Given the description of an element on the screen output the (x, y) to click on. 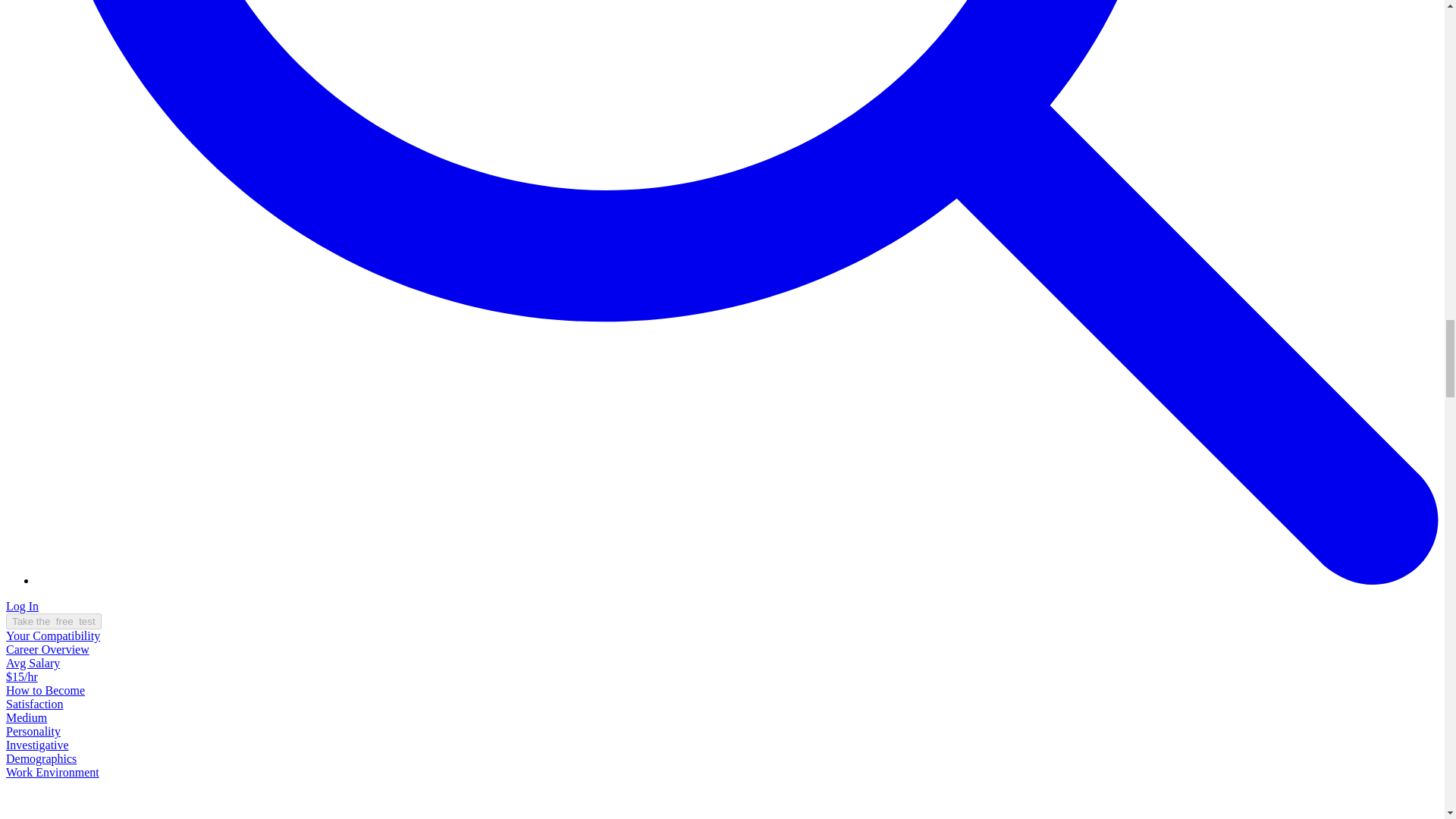
Log In (22, 605)
Take the  free  test (53, 621)
